Given the description of an element on the screen output the (x, y) to click on. 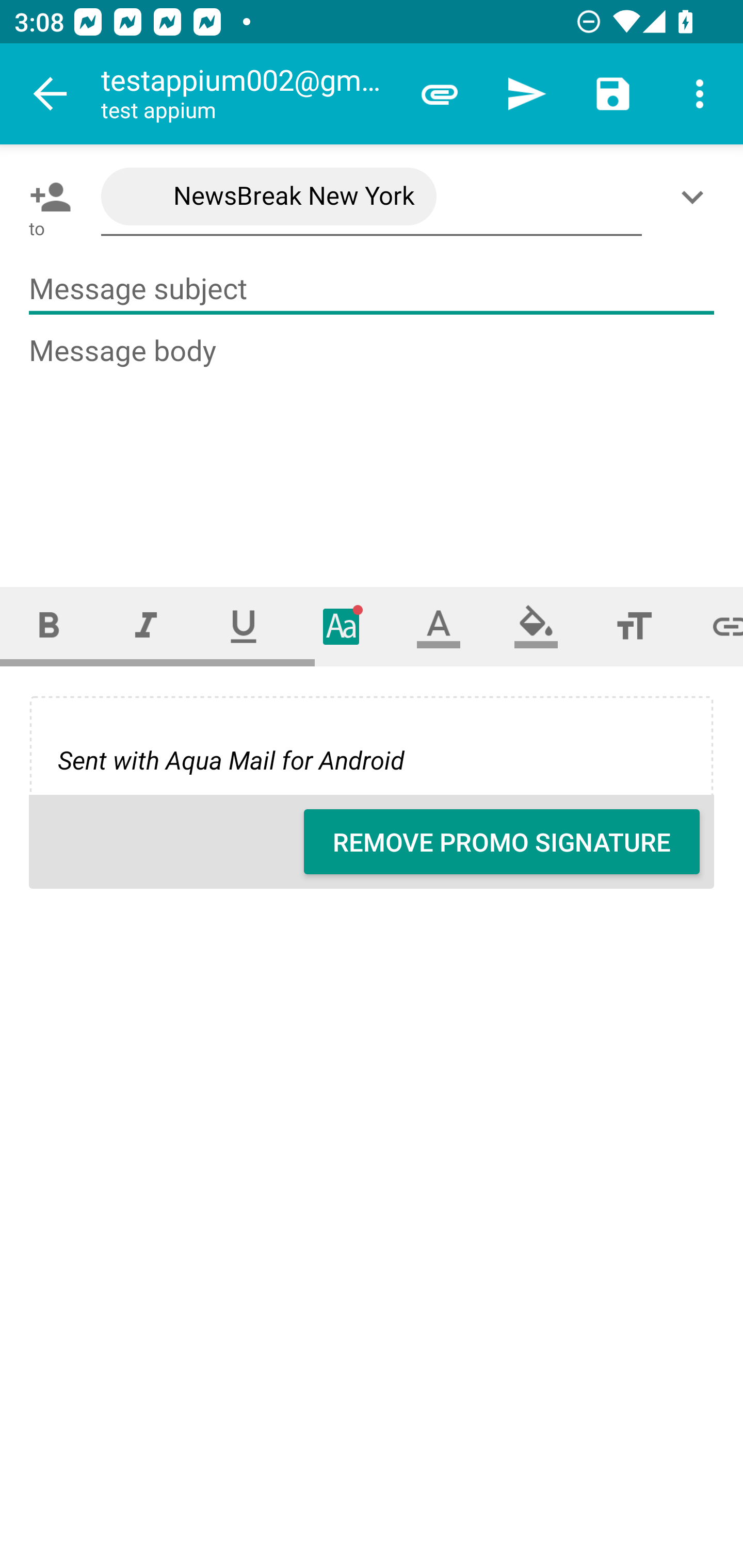
Navigate up (50, 93)
testappium002@gmail.com test appium (248, 93)
Attach (439, 93)
Send (525, 93)
Save (612, 93)
More options (699, 93)
Pick contact: To (46, 196)
Show/Add CC/BCC (696, 196)
Message subject (371, 288)
Message body (372, 442)
Bold (48, 626)
Italic (145, 626)
Underline (243, 626)
Typeface (font) (341, 626)
Text color (438, 626)
Fill color (536, 626)
Font size (633, 626)
REMOVE PROMO SIGNATURE (501, 841)
